Given the description of an element on the screen output the (x, y) to click on. 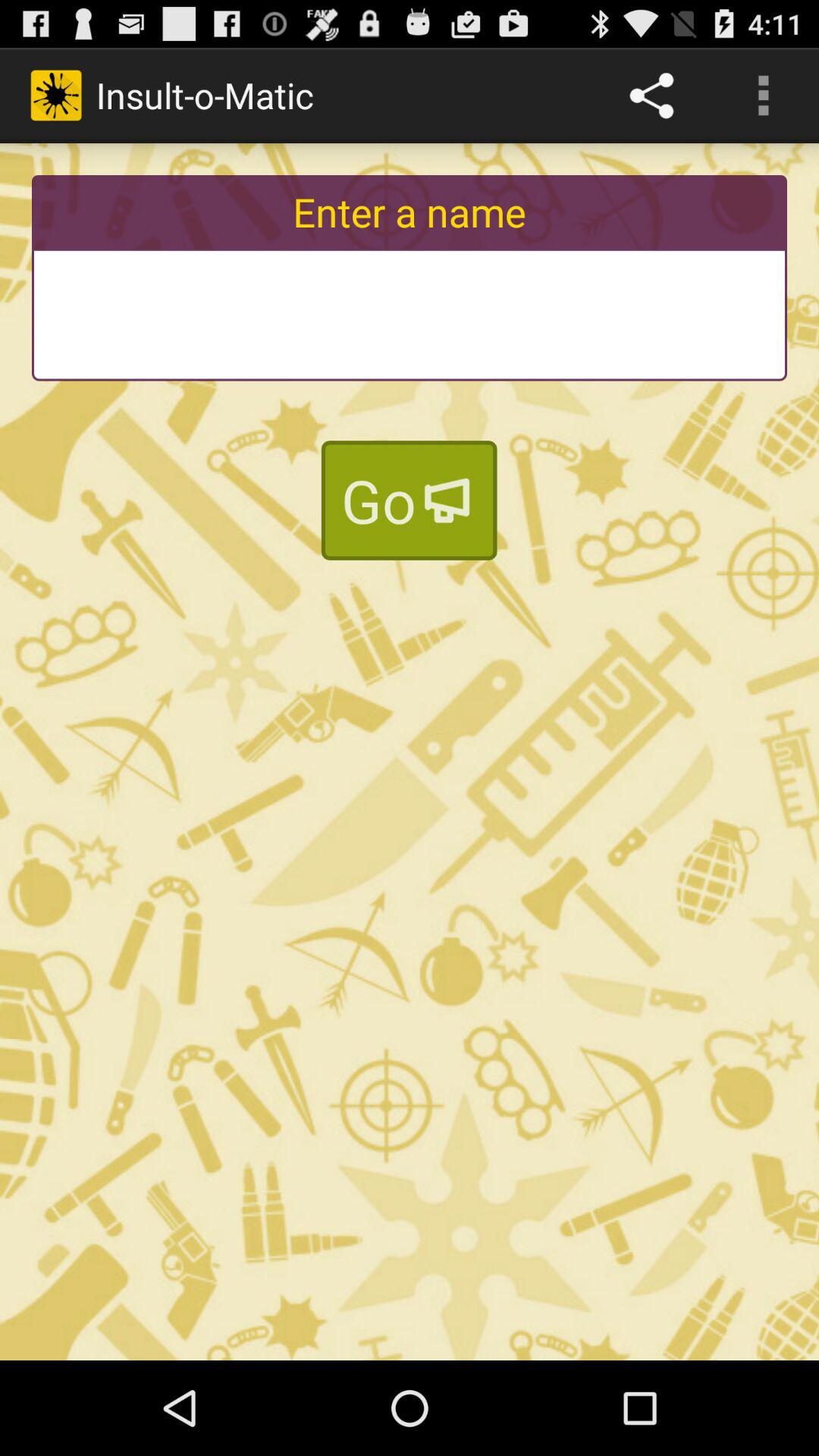
search (409, 314)
